Given the description of an element on the screen output the (x, y) to click on. 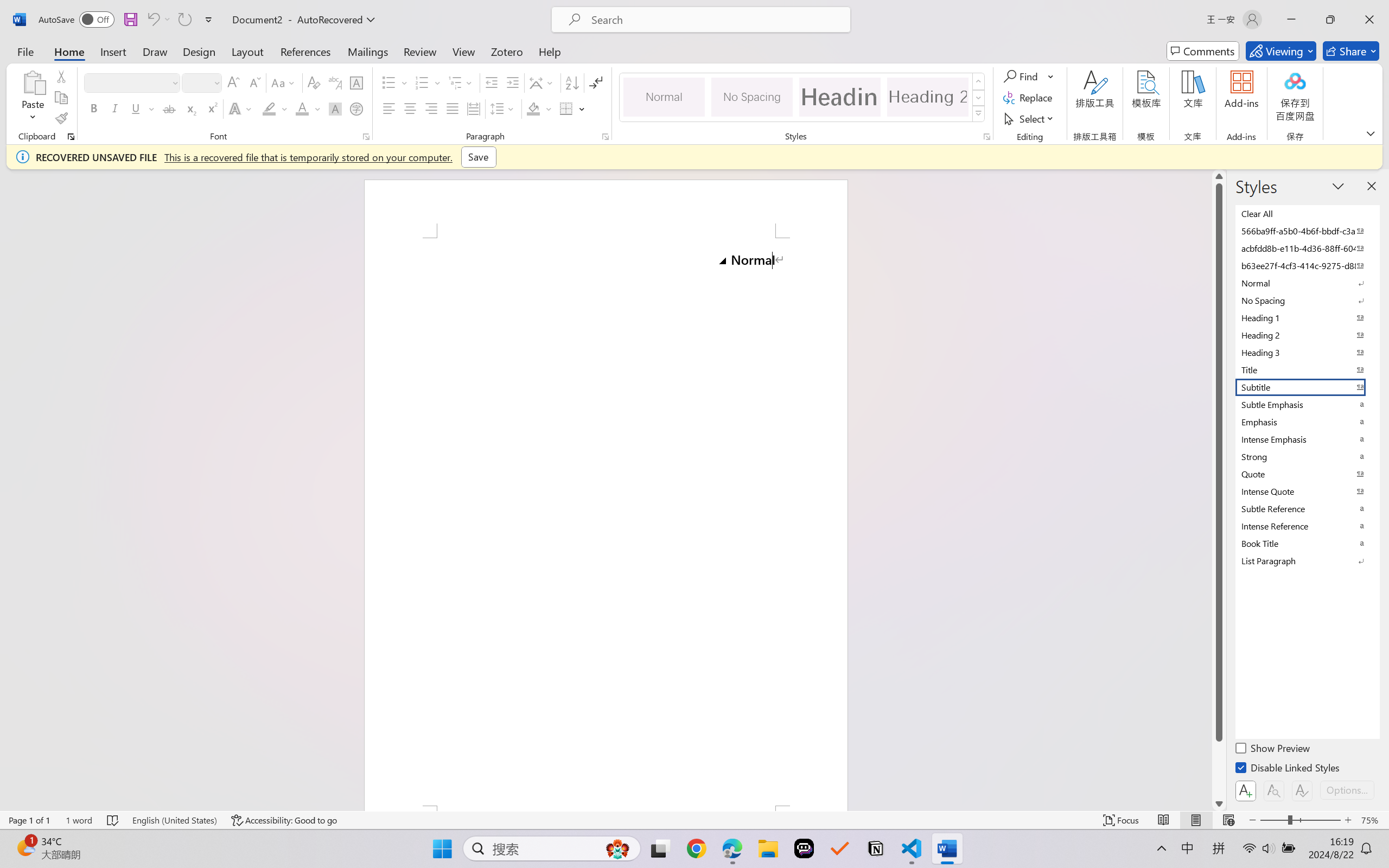
Font Color RGB(255, 0, 0) (302, 108)
Page Number Page 1 of 1 (29, 819)
Select (1030, 118)
Office Clipboard... (70, 136)
Class: MsoCommandBar (694, 819)
Heading 3 (1306, 352)
Options... (1346, 789)
Heading 1 (839, 96)
